Given the description of an element on the screen output the (x, y) to click on. 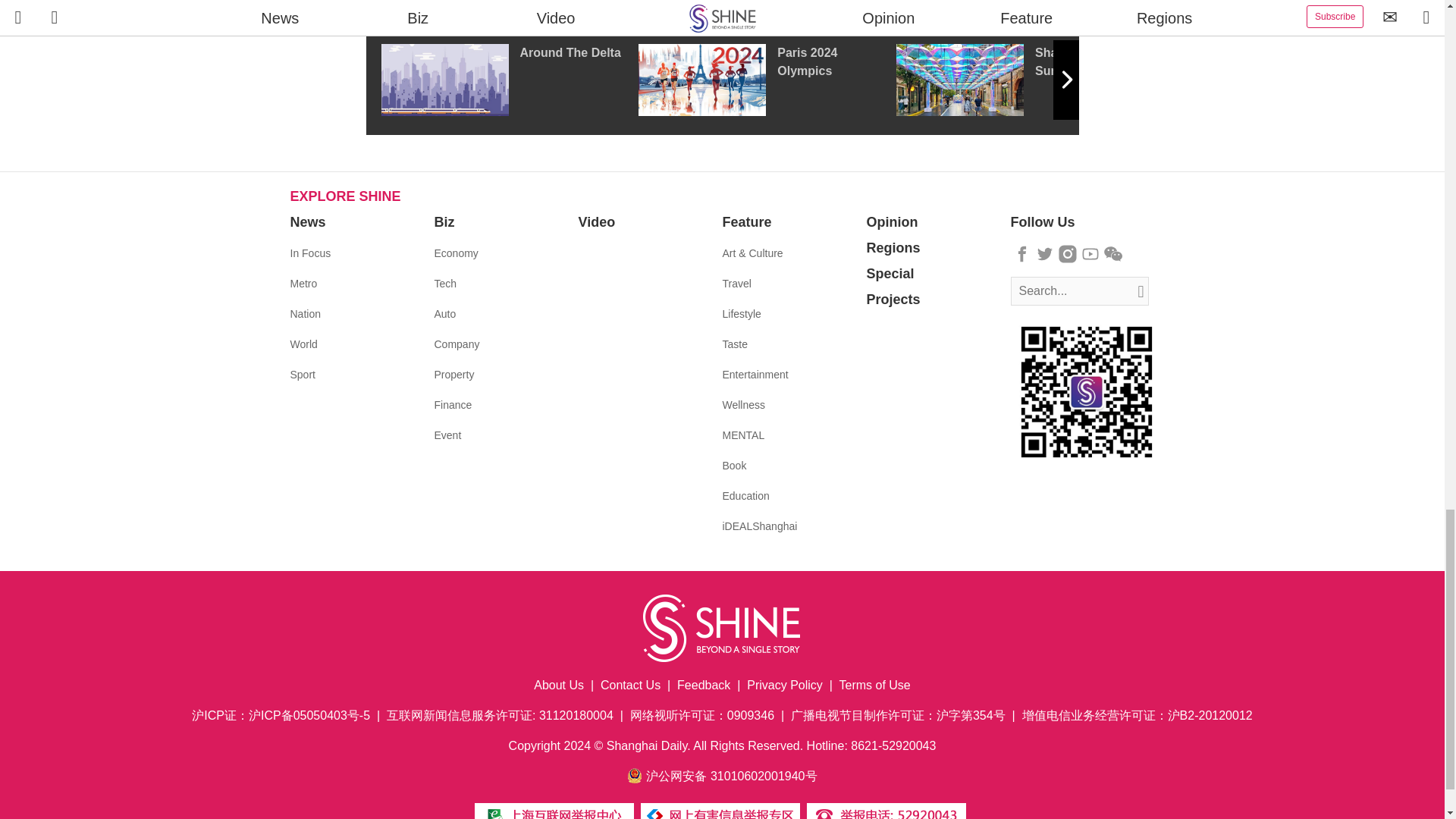
Around The Delta (508, 79)
Paris 2024 Olympics (767, 79)
Special Reports (721, 8)
Follow us on Instagram (1067, 253)
Follow us on Twitter (1044, 253)
Shanghai Summer (1024, 79)
Follow us on Youtube (1090, 253)
Follow us on Facebook (1021, 253)
Follow us on Wechat (1112, 253)
